Given the description of an element on the screen output the (x, y) to click on. 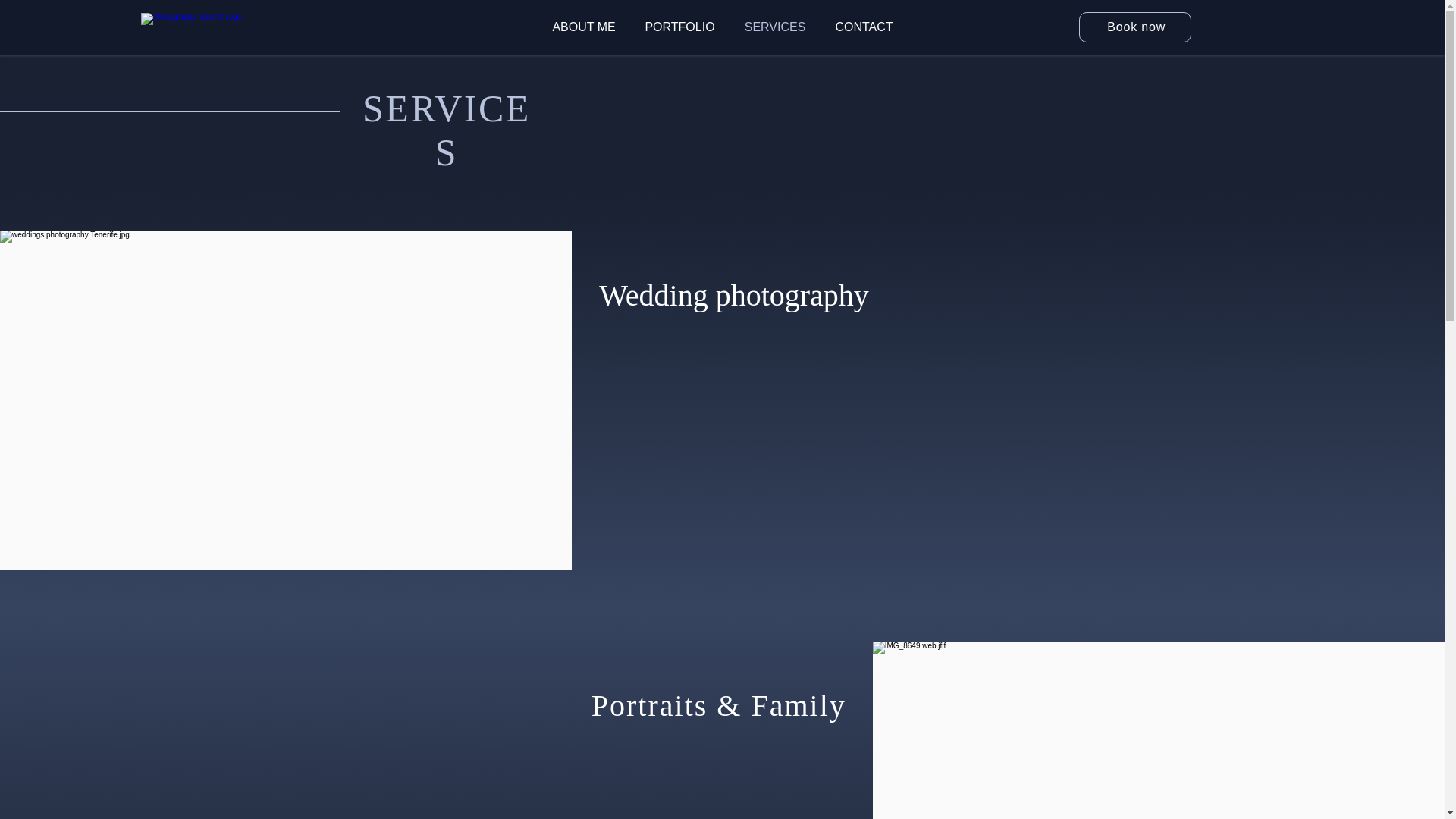
PORTFOLIO (679, 26)
CONTACT (864, 26)
ABOUT ME (583, 26)
SERVICES (775, 26)
Book now (1134, 27)
